Given the description of an element on the screen output the (x, y) to click on. 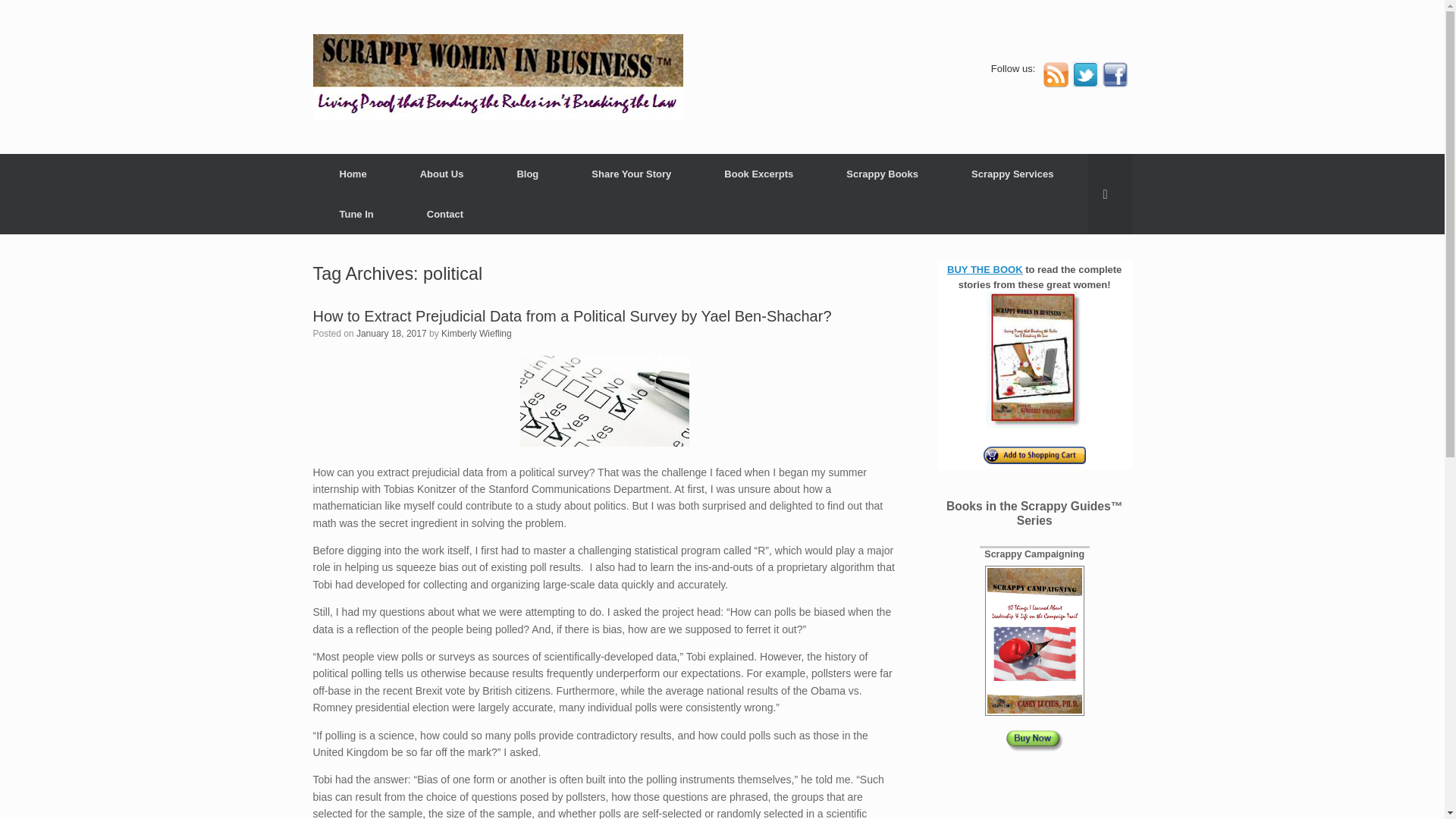
Blog (526, 173)
2:36 am (391, 333)
Scrappy Women in Business (497, 76)
Share Your Story (630, 173)
Scrappy Books (881, 173)
View all posts by Kimberly Wiefling (476, 333)
Subscribe to our feed (1055, 84)
Home (353, 173)
Buy Scrappy Campaigning (1034, 734)
Book Excerpts (758, 173)
amazon1 (1035, 455)
Follow us on twitter (1085, 84)
Connect on Facebook (1113, 84)
About Us (441, 173)
